Given the description of an element on the screen output the (x, y) to click on. 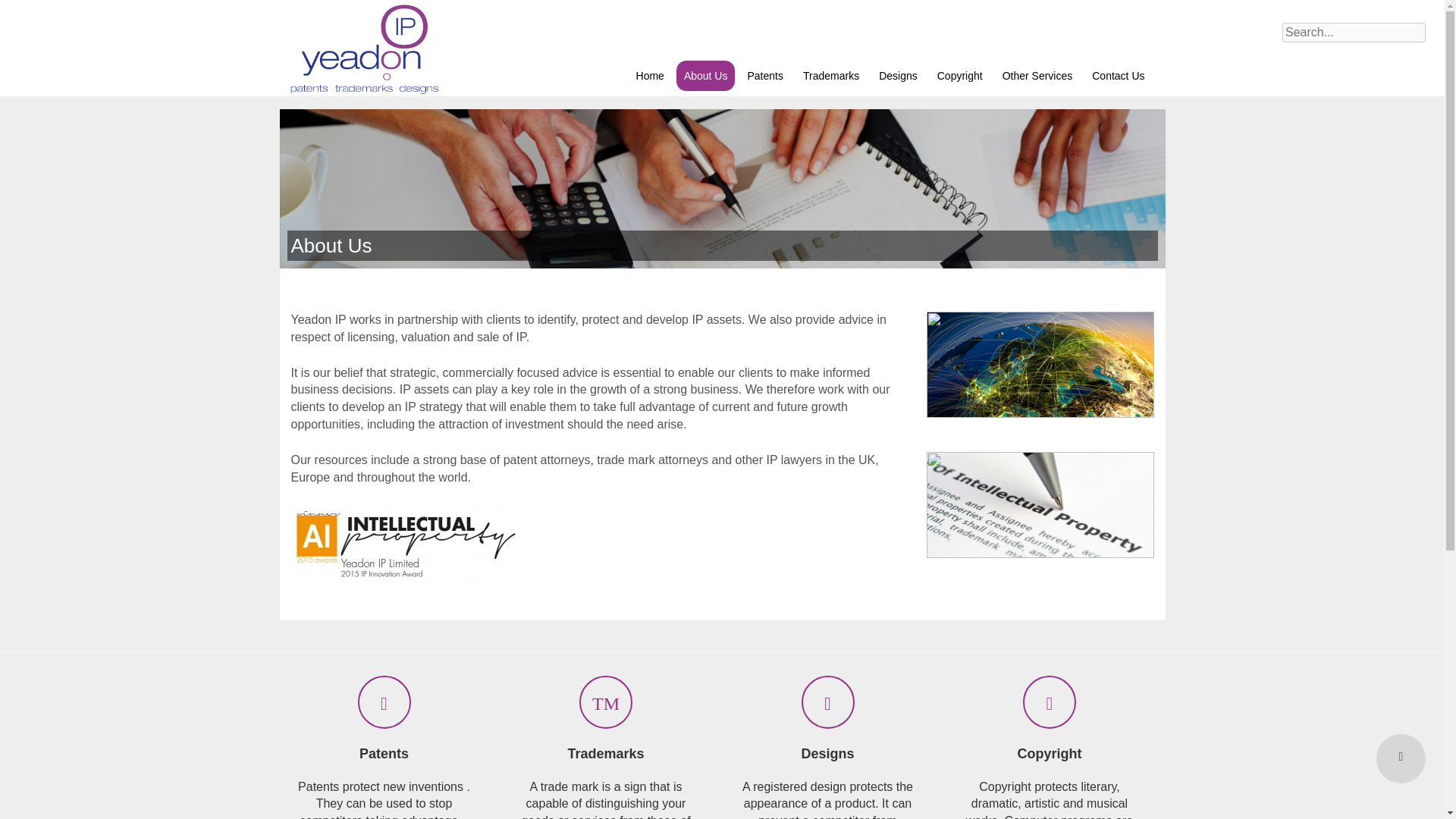
Patents (764, 75)
Other Services (1037, 75)
Contact Us (1117, 75)
About Us (706, 75)
Designs (897, 75)
Trademarks (830, 75)
Copyright (960, 75)
Home (649, 75)
